Given the description of an element on the screen output the (x, y) to click on. 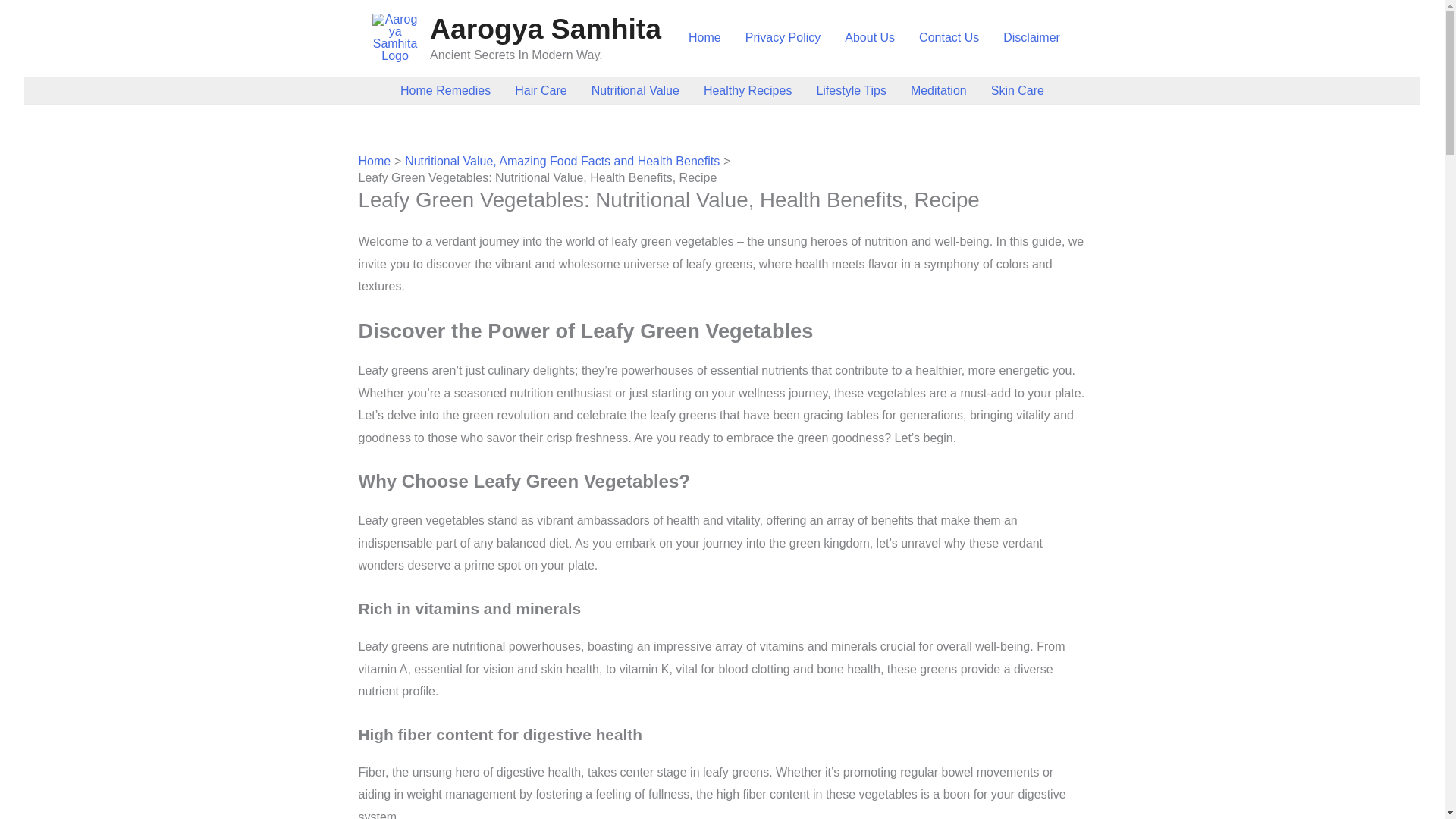
Home Remedies (445, 90)
Lifestyle Tips (850, 90)
Skin Care (1017, 90)
Nutritional Value (635, 90)
Aarogya Samhita (545, 29)
Privacy Policy (782, 37)
About Us (869, 37)
Disclaimer (1031, 37)
Hair Care (540, 90)
Meditation (938, 90)
